Given the description of an element on the screen output the (x, y) to click on. 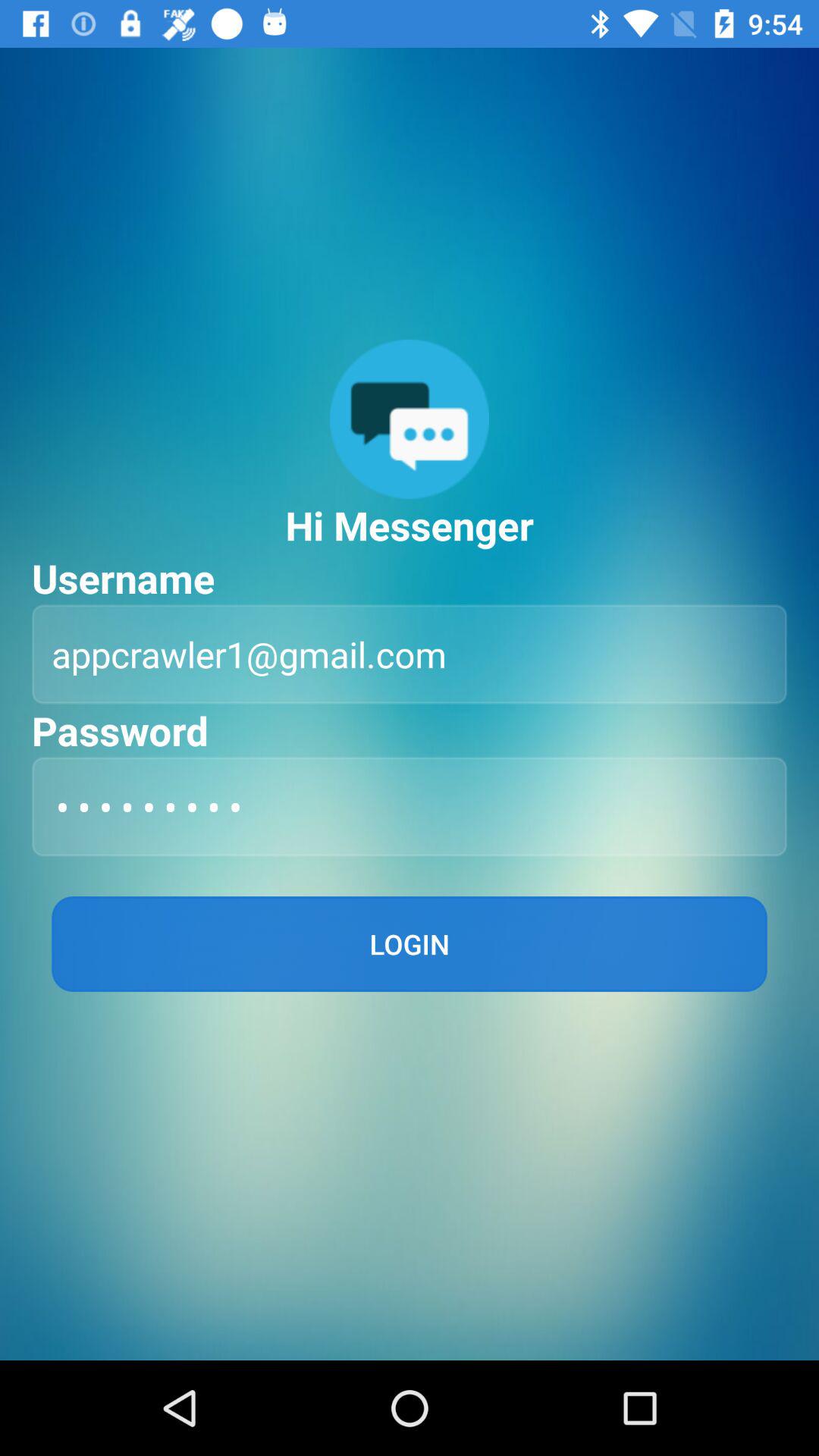
launch the icon below crowd3116 item (409, 943)
